Given the description of an element on the screen output the (x, y) to click on. 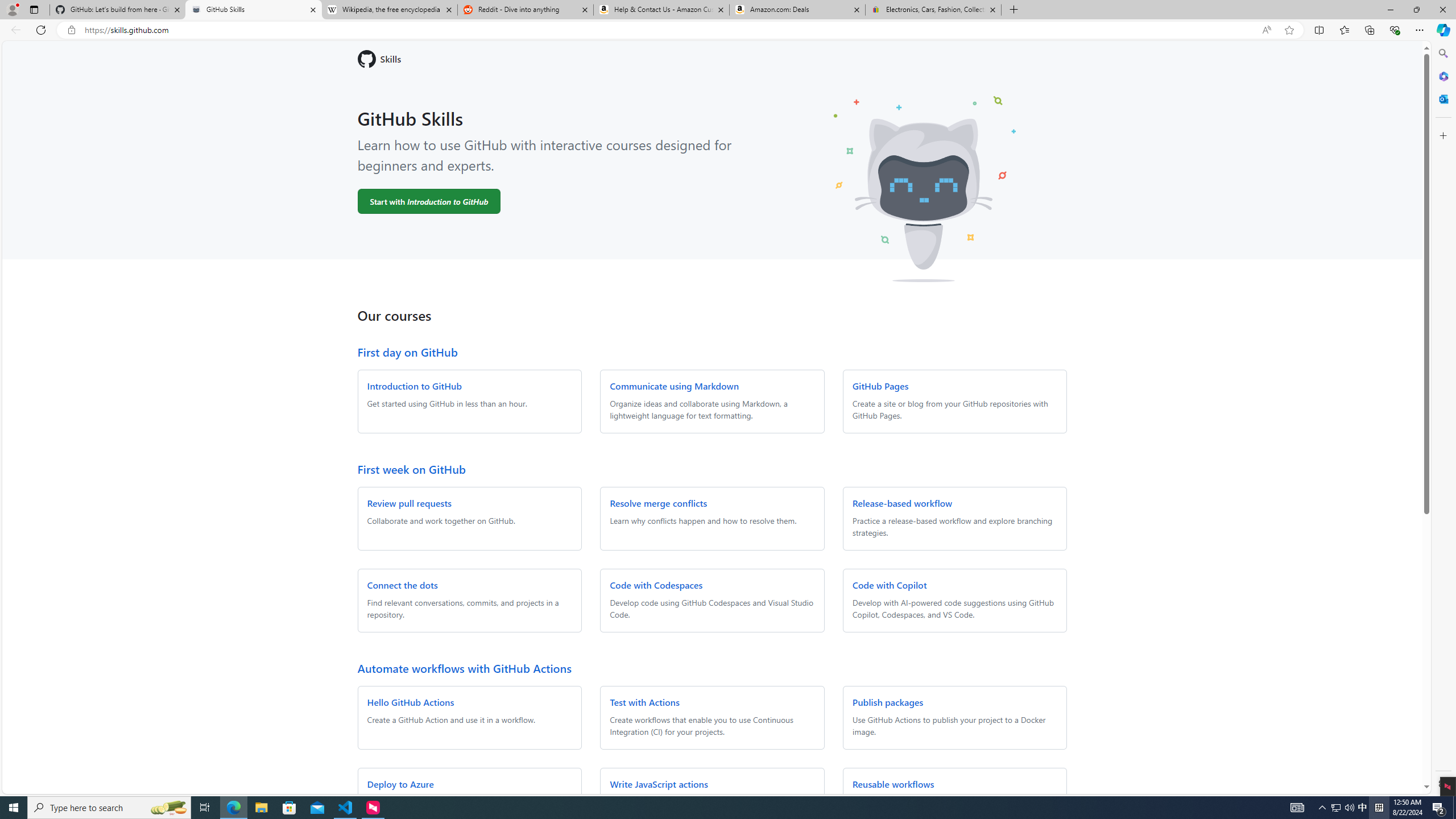
Deploy to Azure (399, 784)
Write JavaScript actions (658, 784)
Amazon.com: Deals (797, 9)
Review pull requests (408, 503)
Hello GitHub Actions (410, 702)
Automate workflows with GitHub Actions (464, 667)
